Given the description of an element on the screen output the (x, y) to click on. 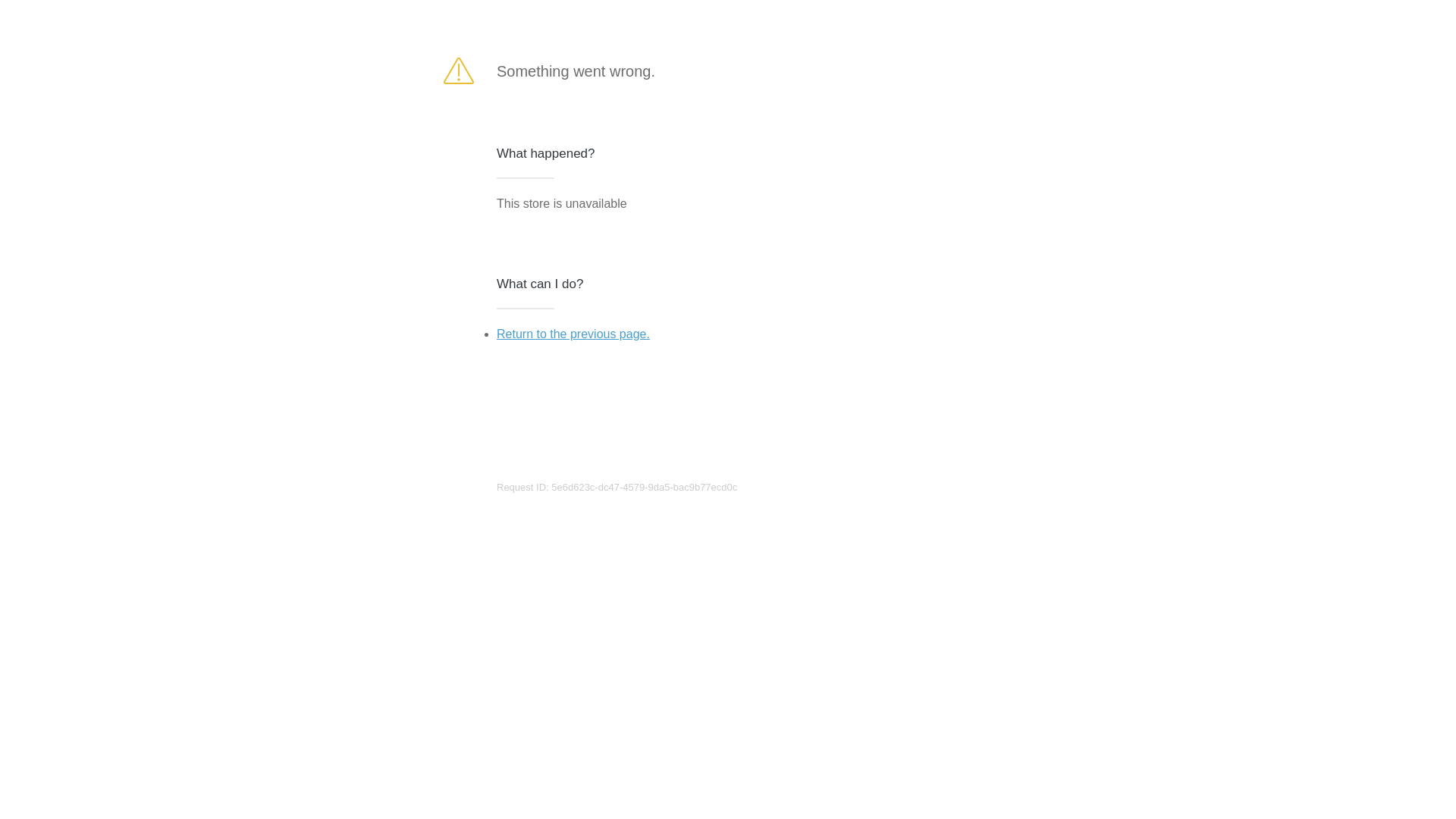
Return to the previous page. Element type: text (572, 333)
